Given the description of an element on the screen output the (x, y) to click on. 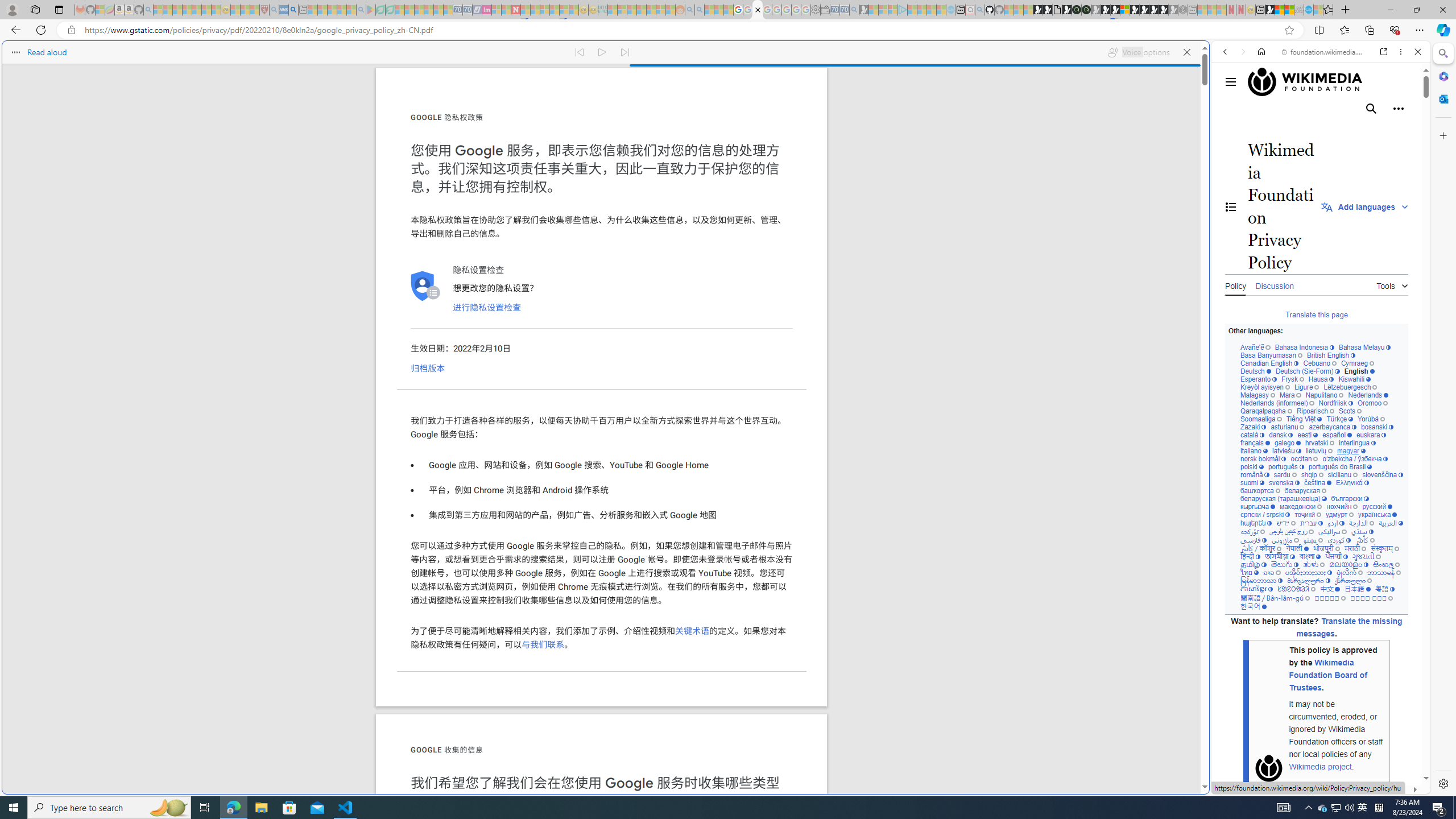
Hausa (1320, 379)
hrvatski (1319, 442)
Expert Portfolios - Sleeping (640, 9)
Nordfriisk (1334, 403)
WEB   (1230, 130)
Search Filter, Search Tools (1350, 129)
